Given the description of an element on the screen output the (x, y) to click on. 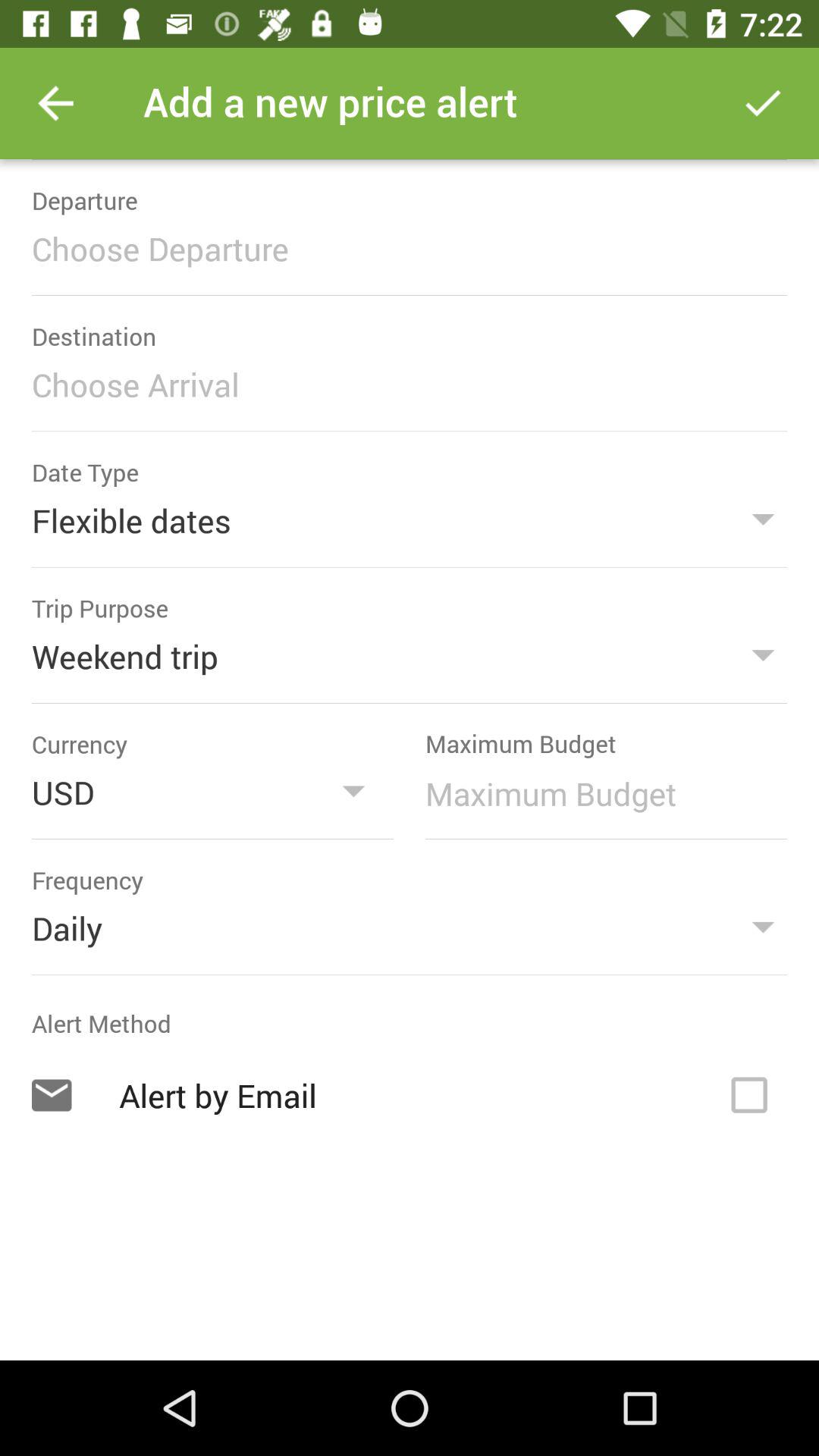
click this blinking highlighted field to enter the amount of us dollars (598, 793)
